Given the description of an element on the screen output the (x, y) to click on. 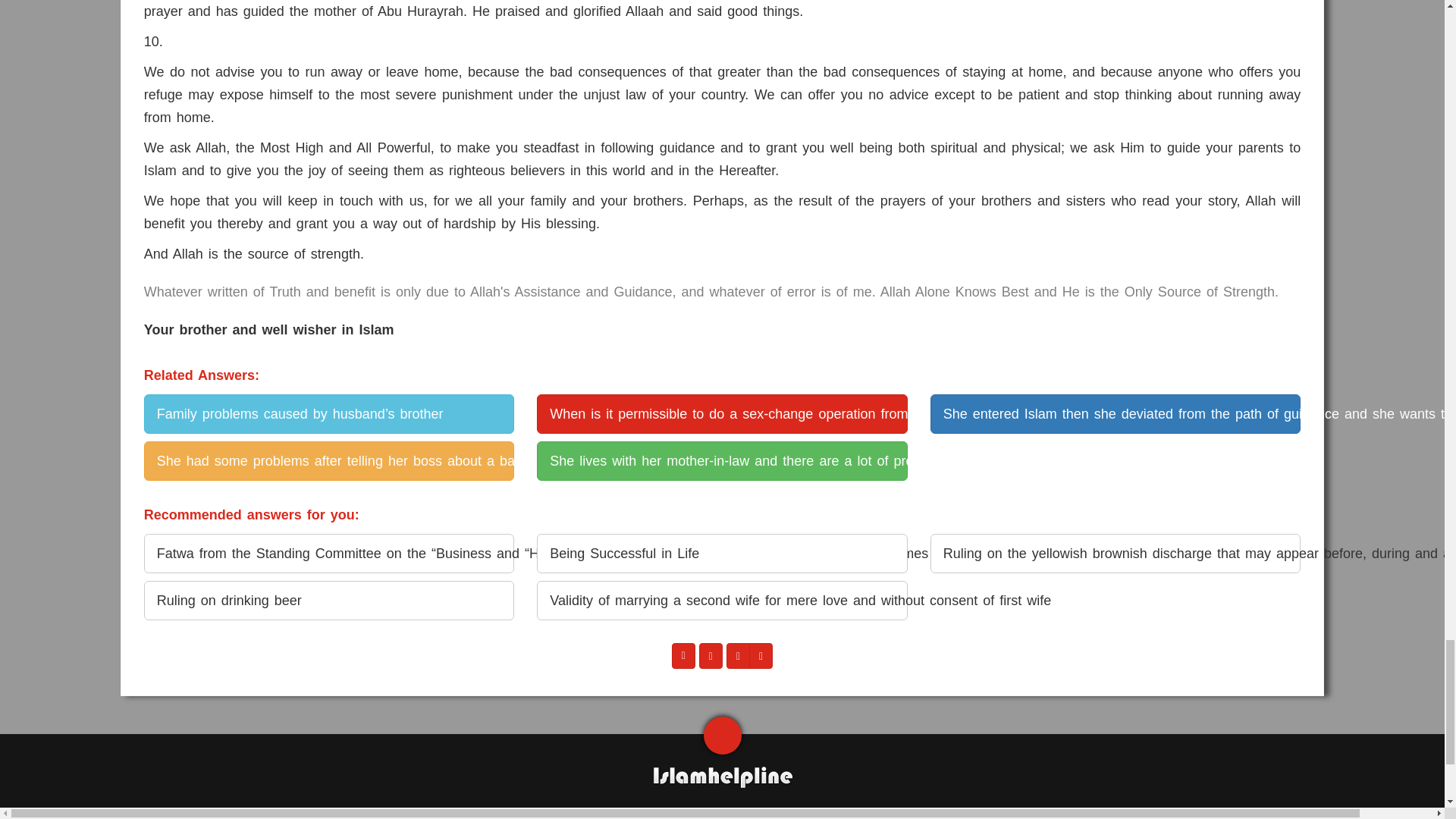
Being Successful in Life (722, 553)
Ruling on drinking beer (328, 599)
